Given the description of an element on the screen output the (x, y) to click on. 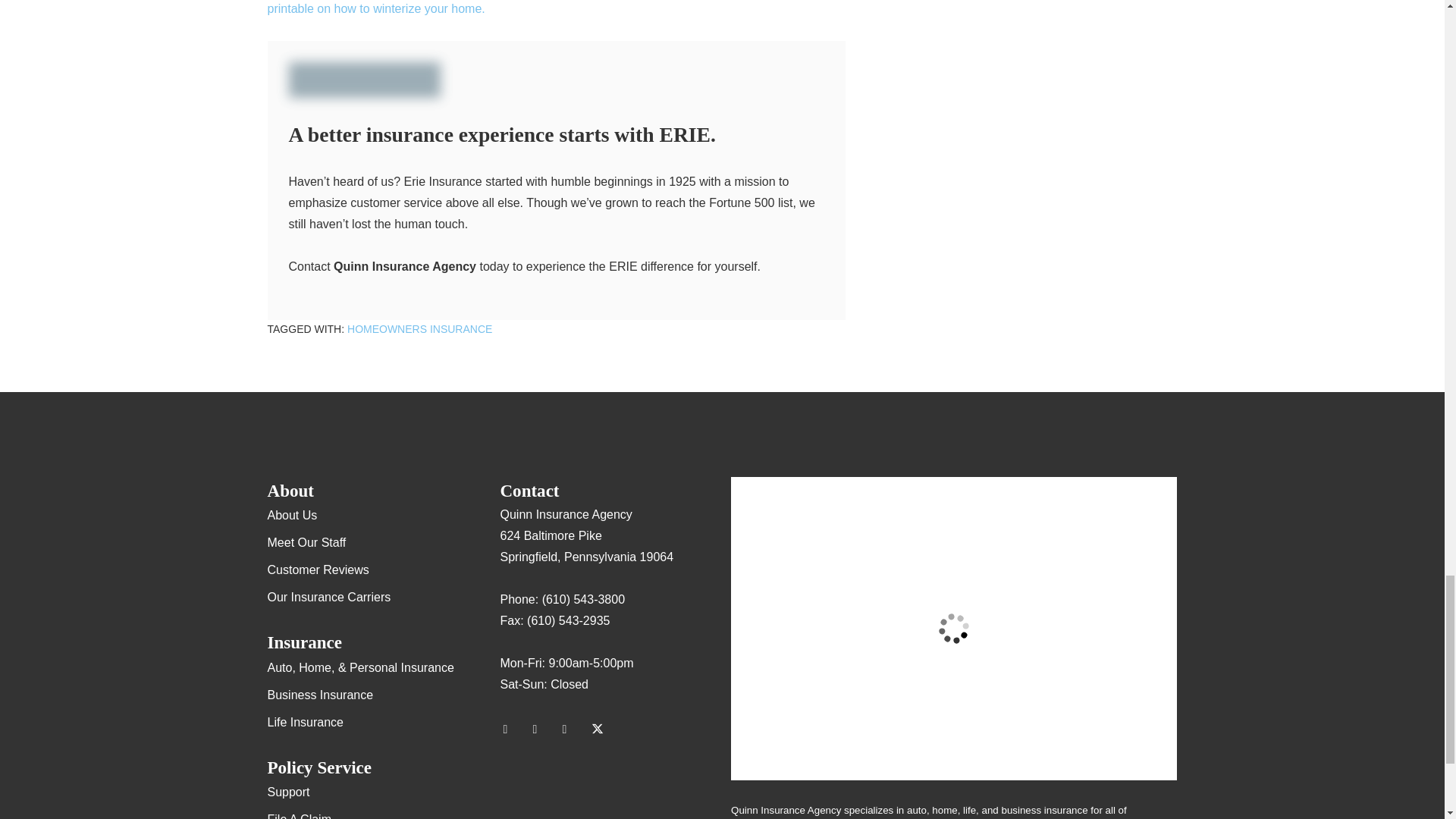
Yelp (541, 729)
X (600, 729)
Facebook (571, 729)
Homeowners Insurance (419, 328)
Google Maps (511, 729)
